Given the description of an element on the screen output the (x, y) to click on. 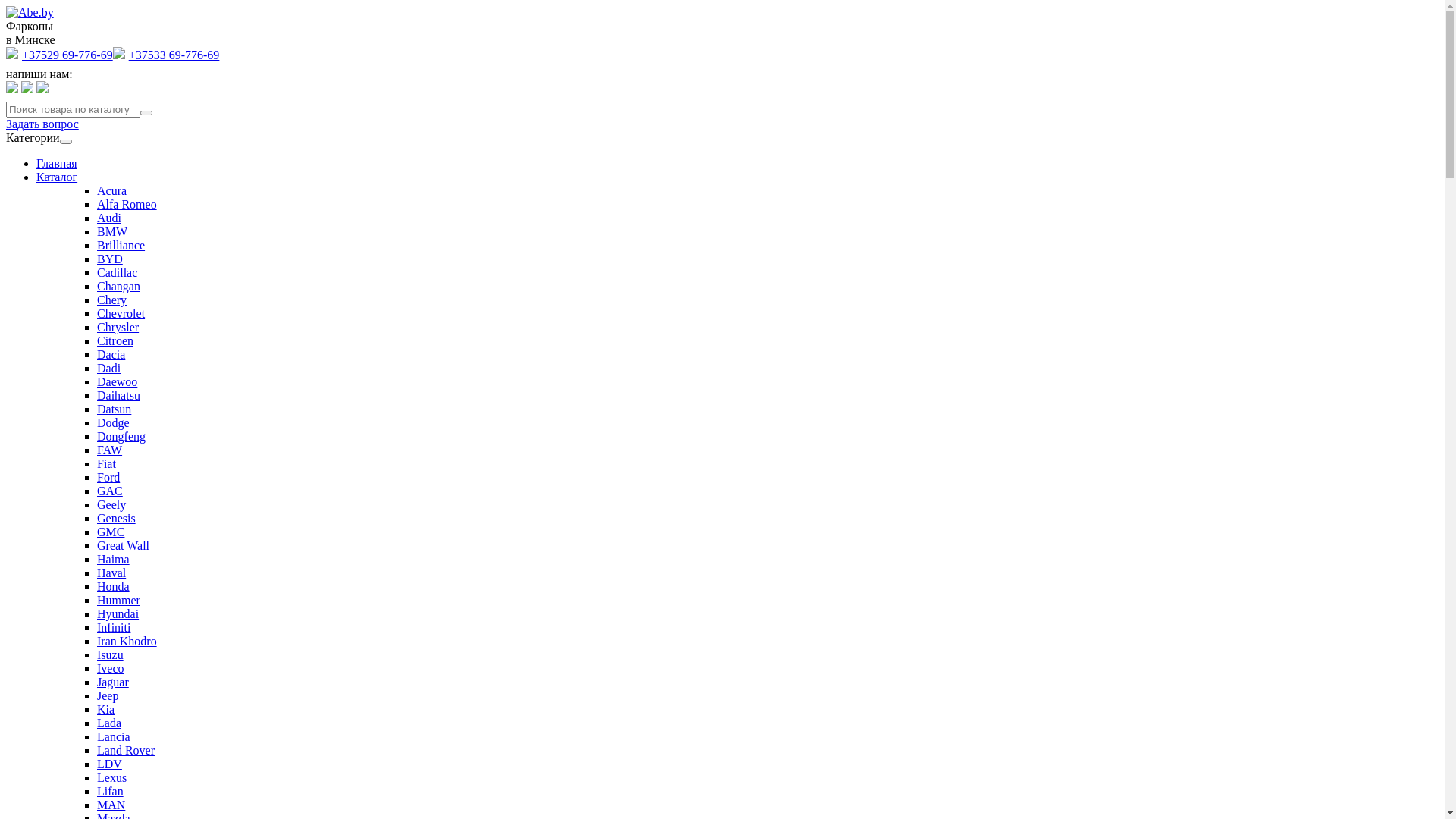
Haima Element type: text (113, 558)
Abe.by Element type: hover (29, 12)
Chery Element type: text (111, 299)
Lifan Element type: text (110, 790)
Jaguar Element type: text (112, 681)
Hummer Element type: text (118, 599)
Infiniti Element type: text (113, 627)
Daewoo Element type: text (117, 381)
BYD Element type: text (109, 258)
+37533 69-776-69 Element type: text (165, 54)
Ford Element type: text (108, 476)
Lada Element type: text (109, 722)
Acura Element type: text (111, 190)
Great Wall Element type: text (123, 545)
Lexus Element type: text (111, 777)
Cadillac Element type: text (117, 272)
LDV Element type: text (109, 763)
Dacia Element type: text (111, 354)
Alfa Romeo Element type: text (126, 203)
Land Rover Element type: text (125, 749)
Iveco Element type: text (110, 668)
Genesis Element type: text (116, 517)
GAC Element type: text (109, 490)
Kia Element type: text (105, 708)
Datsun Element type: text (114, 408)
Chrysler Element type: text (117, 326)
Changan Element type: text (118, 285)
Dongfeng Element type: text (121, 435)
Citroen Element type: text (115, 340)
BMW Element type: text (112, 231)
Dadi Element type: text (108, 367)
Lancia Element type: text (113, 736)
Daihatsu Element type: text (118, 395)
Chevrolet Element type: text (120, 313)
+37529 69-776-69 Element type: text (59, 54)
Iran Khodro Element type: text (126, 640)
Haval Element type: text (111, 572)
FAW Element type: text (109, 449)
Hyundai Element type: text (117, 613)
Audi Element type: text (109, 217)
Isuzu Element type: text (110, 654)
Dodge Element type: text (113, 422)
GMC Element type: text (110, 531)
Brilliance Element type: text (120, 244)
Honda Element type: text (113, 586)
Geely Element type: text (111, 504)
MAN Element type: text (111, 804)
Jeep Element type: text (107, 695)
Fiat Element type: text (106, 463)
